Given the description of an element on the screen output the (x, y) to click on. 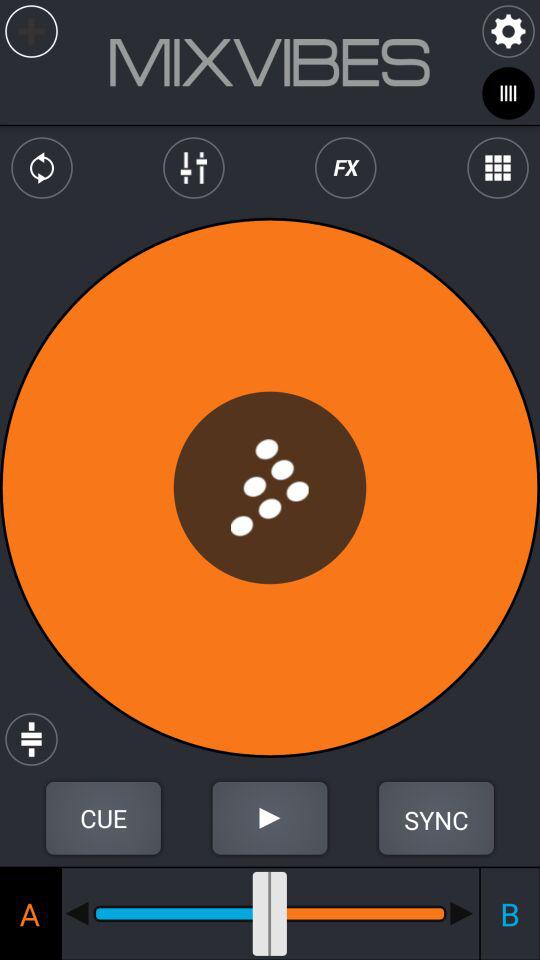
choose the b icon (509, 913)
